Given the description of an element on the screen output the (x, y) to click on. 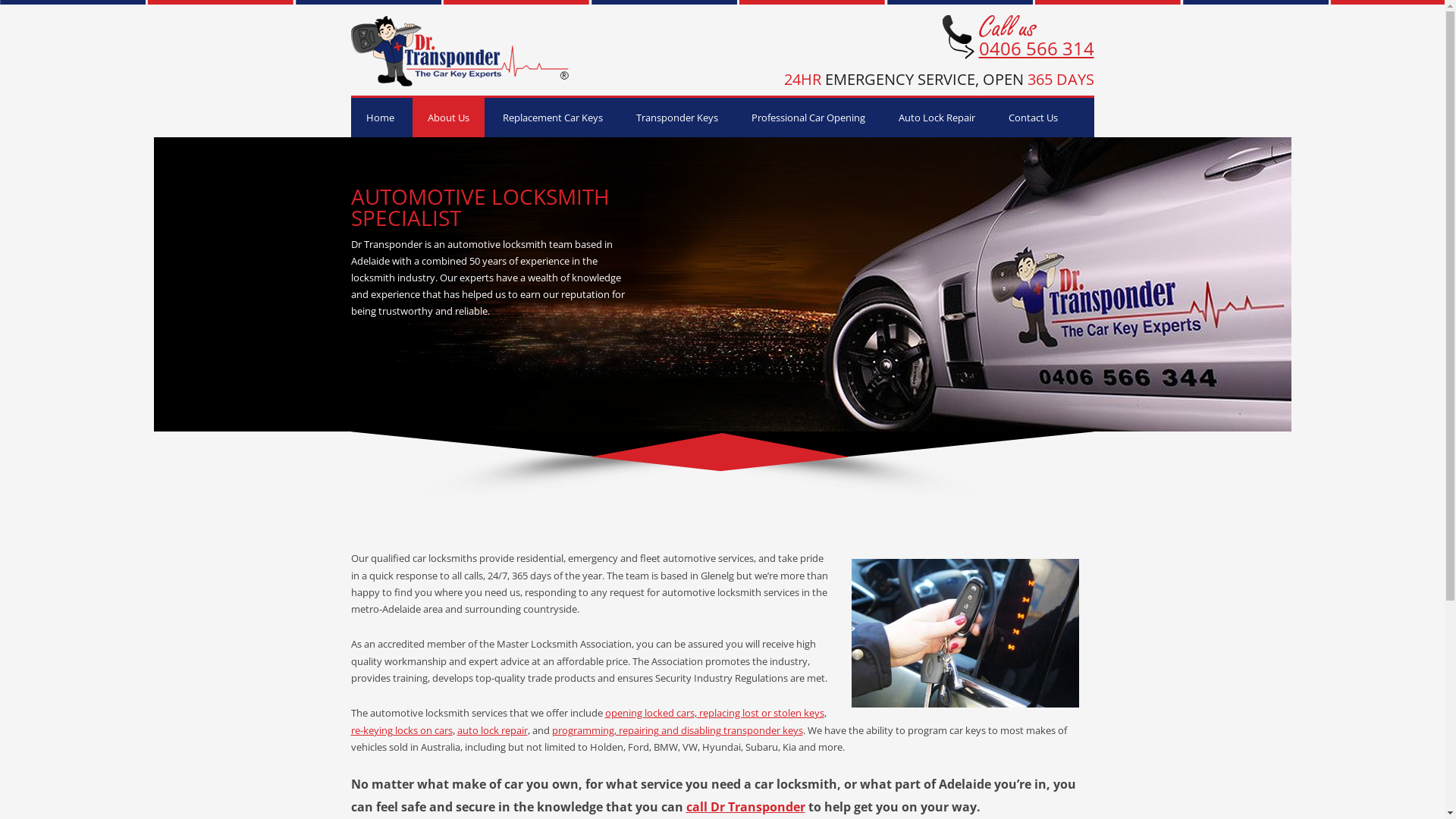
Skip to content Element type: text (759, 100)
About Us Element type: text (448, 117)
Automotive Locksmiths Adelaide Element type: hover (459, 82)
Contact Us Element type: hover (957, 37)
Transponder Keys Element type: text (676, 117)
Replacement Car Keys Element type: text (551, 117)
re-keying locks on cars Element type: text (400, 730)
Automotive Locksmiths Adelaide Element type: hover (459, 50)
replacing lost or stolen keys Element type: text (759, 712)
programming, repairing and disabling transponder keys Element type: text (677, 730)
call Dr Transponder Element type: text (744, 806)
Contact Dr Transponder Element type: hover (1006, 26)
0406 566 314 Element type: text (1035, 47)
auto lock repair Element type: text (491, 730)
Professional Car Opening Element type: text (807, 117)
Home Element type: text (379, 117)
opening locked cars Element type: text (649, 712)
Contact Us Element type: text (1033, 117)
Auto Lock Repair Element type: text (935, 117)
